Given the description of an element on the screen output the (x, y) to click on. 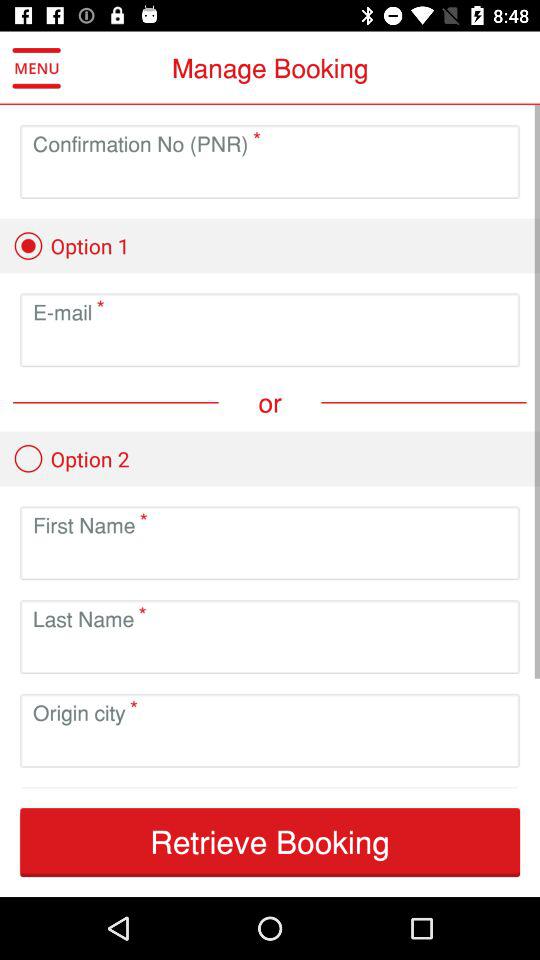
enter name (270, 558)
